Given the description of an element on the screen output the (x, y) to click on. 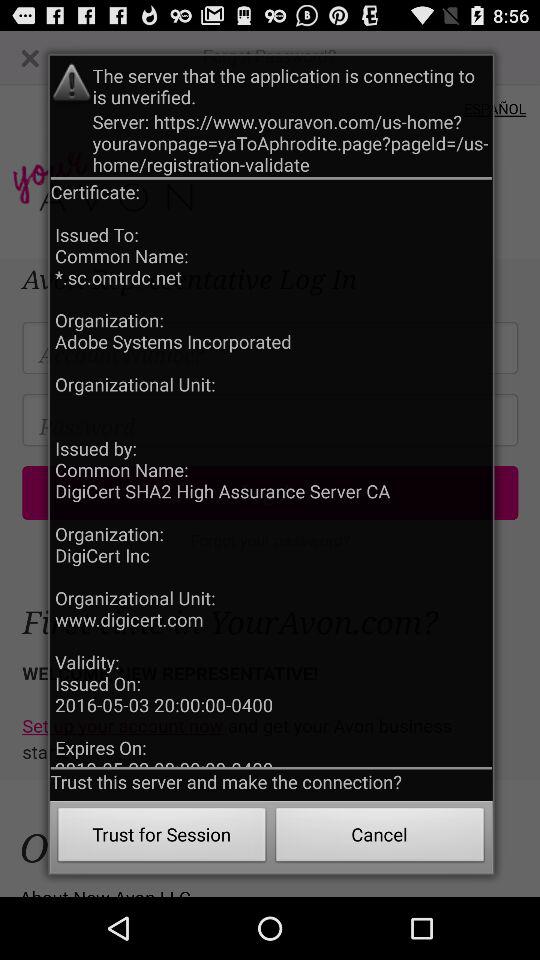
launch icon next to trust for session icon (380, 837)
